Given the description of an element on the screen output the (x, y) to click on. 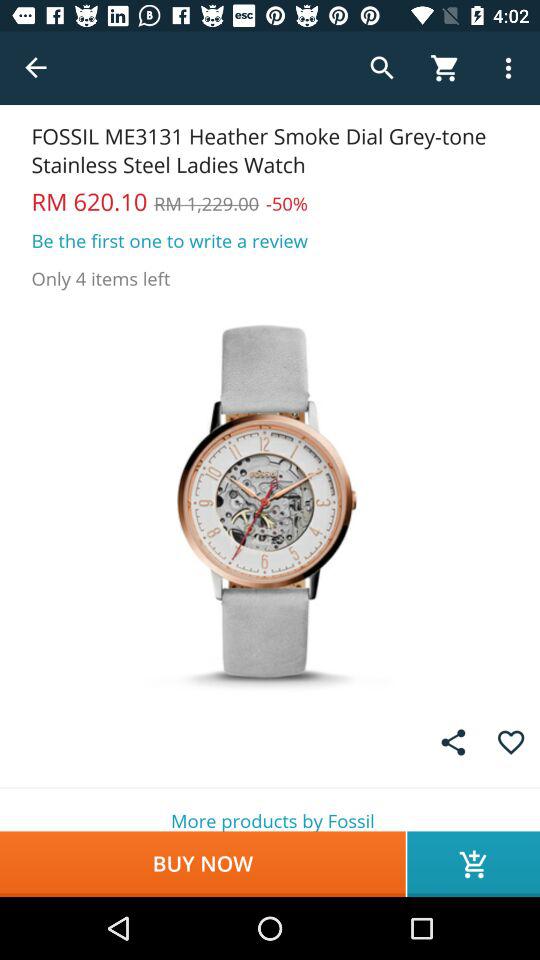
launch the item above buy now icon (270, 809)
